Given the description of an element on the screen output the (x, y) to click on. 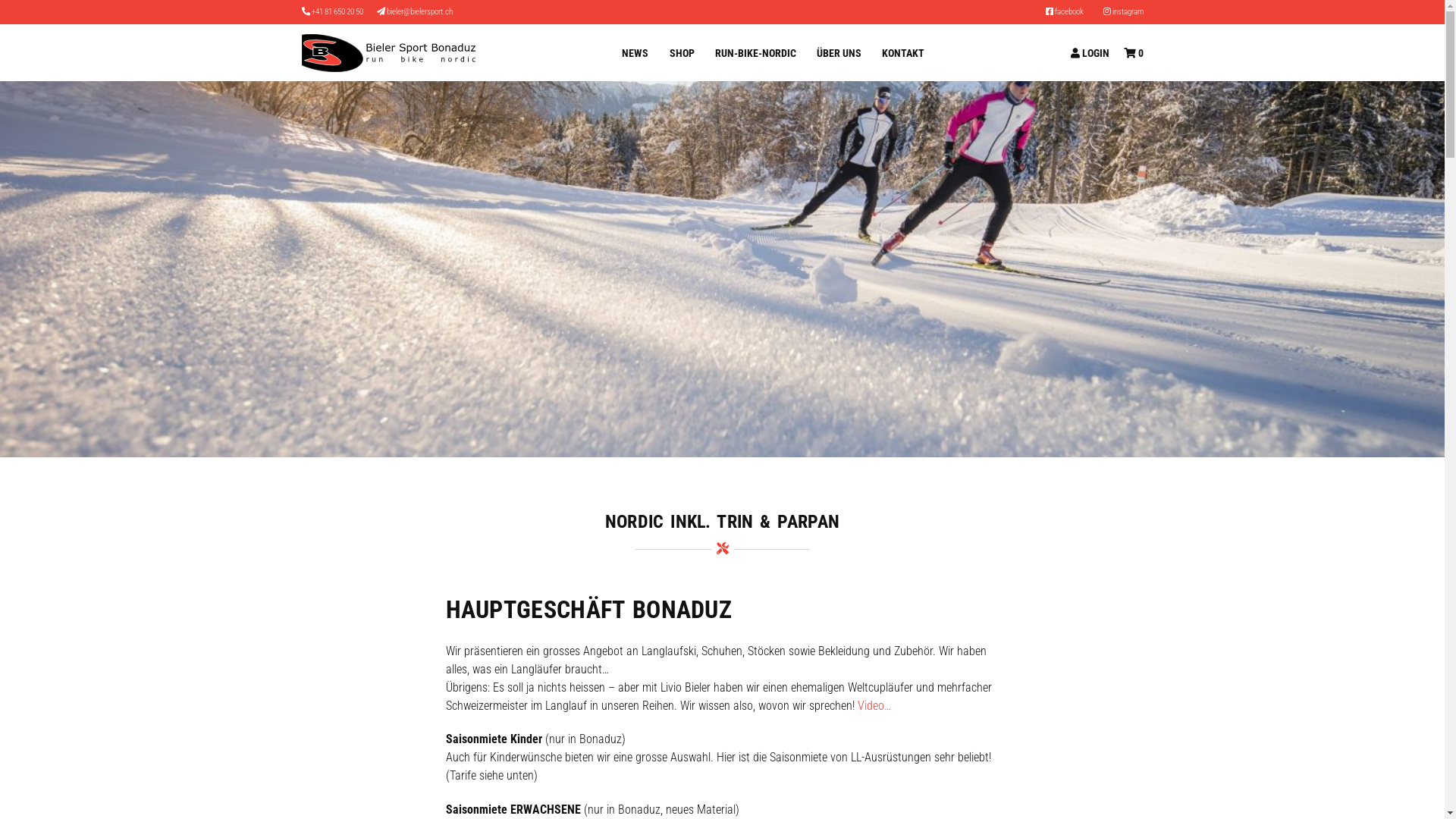
facebook Element type: text (1063, 11)
SHOP Element type: text (681, 53)
bieler@bielersport.ch Element type: text (419, 11)
instagram Element type: text (1122, 11)
NEWS Element type: text (634, 53)
0 Element type: text (1132, 53)
KONTAKT Element type: text (902, 53)
LOGIN Element type: text (1089, 53)
RUN-BIKE-NORDIC Element type: text (755, 53)
